Given the description of an element on the screen output the (x, y) to click on. 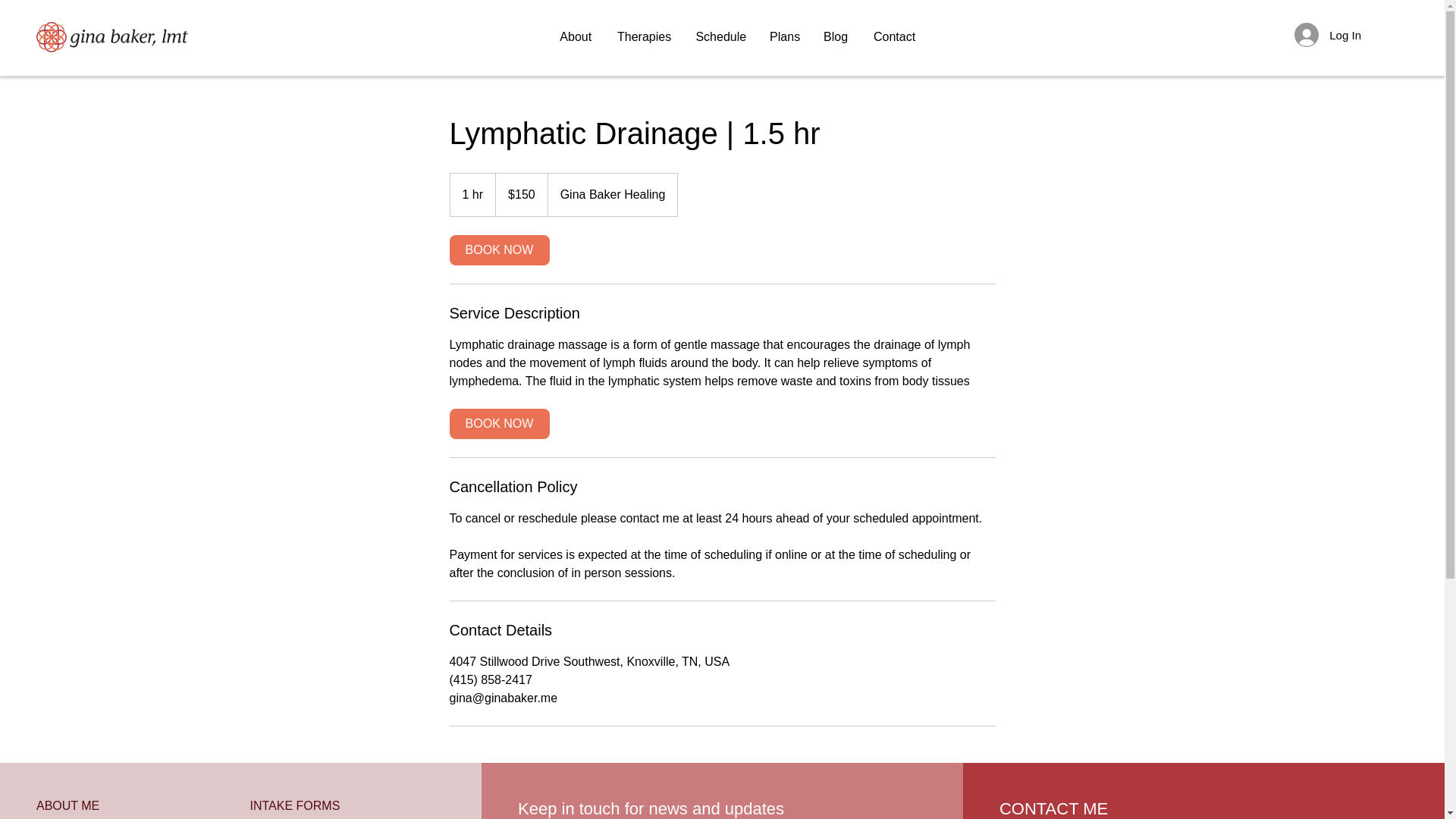
INTAKE FORMS (295, 805)
Plans (783, 37)
Blog (834, 37)
Contact (892, 37)
Schedule (719, 37)
About (573, 37)
BOOK NOW (498, 250)
Log In (1327, 34)
Therapies (642, 37)
ABOUT ME (67, 805)
